Given the description of an element on the screen output the (x, y) to click on. 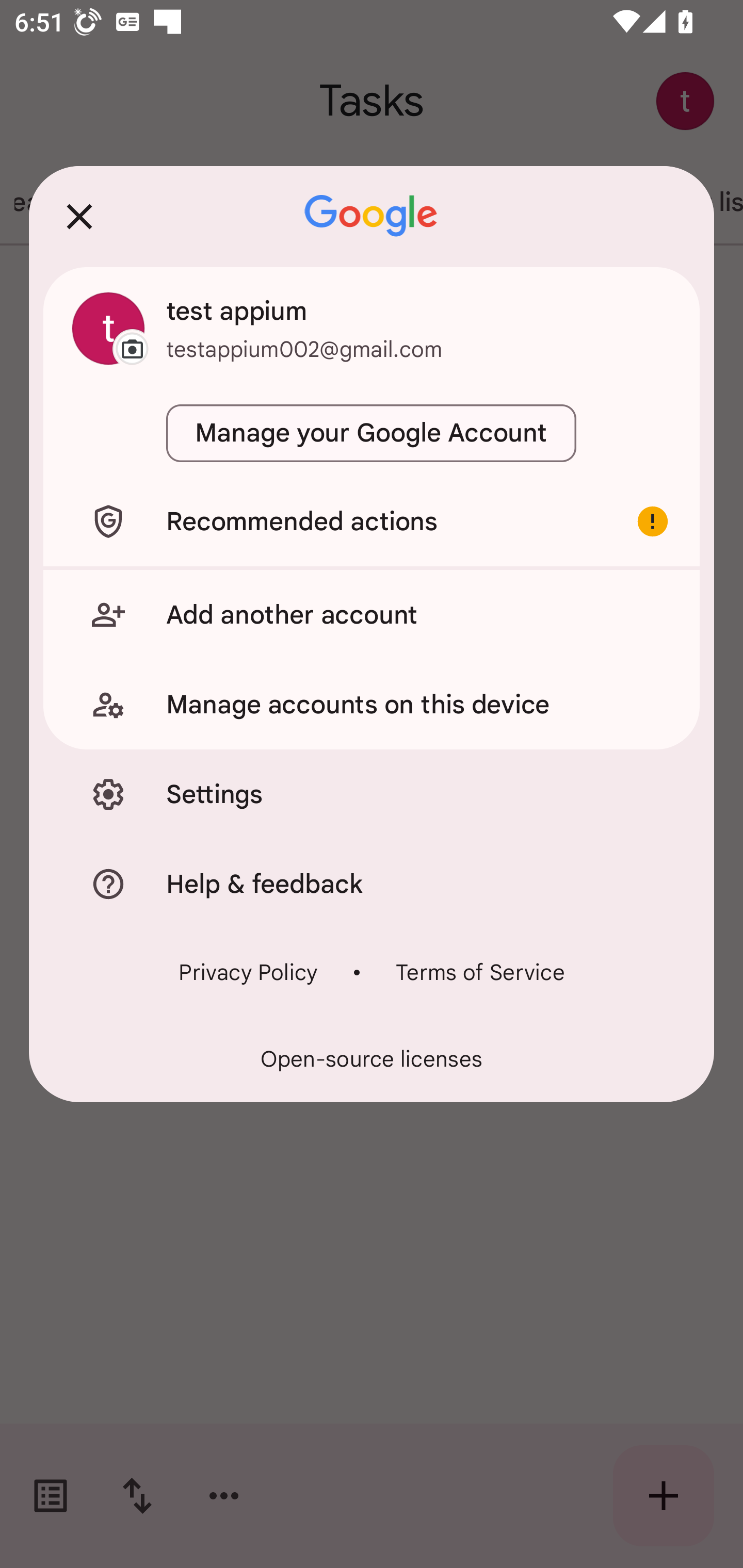
Close (79, 216)
Change profile picture. (108, 328)
Manage your Google Account (371, 433)
Recommended actions Important account alert (371, 521)
Add another account (371, 614)
Manage accounts on this device (371, 704)
Settings (371, 793)
Help & feedback (371, 883)
Privacy Policy (247, 972)
Terms of Service (479, 972)
Open-source licenses (371, 1059)
